Given the description of an element on the screen output the (x, y) to click on. 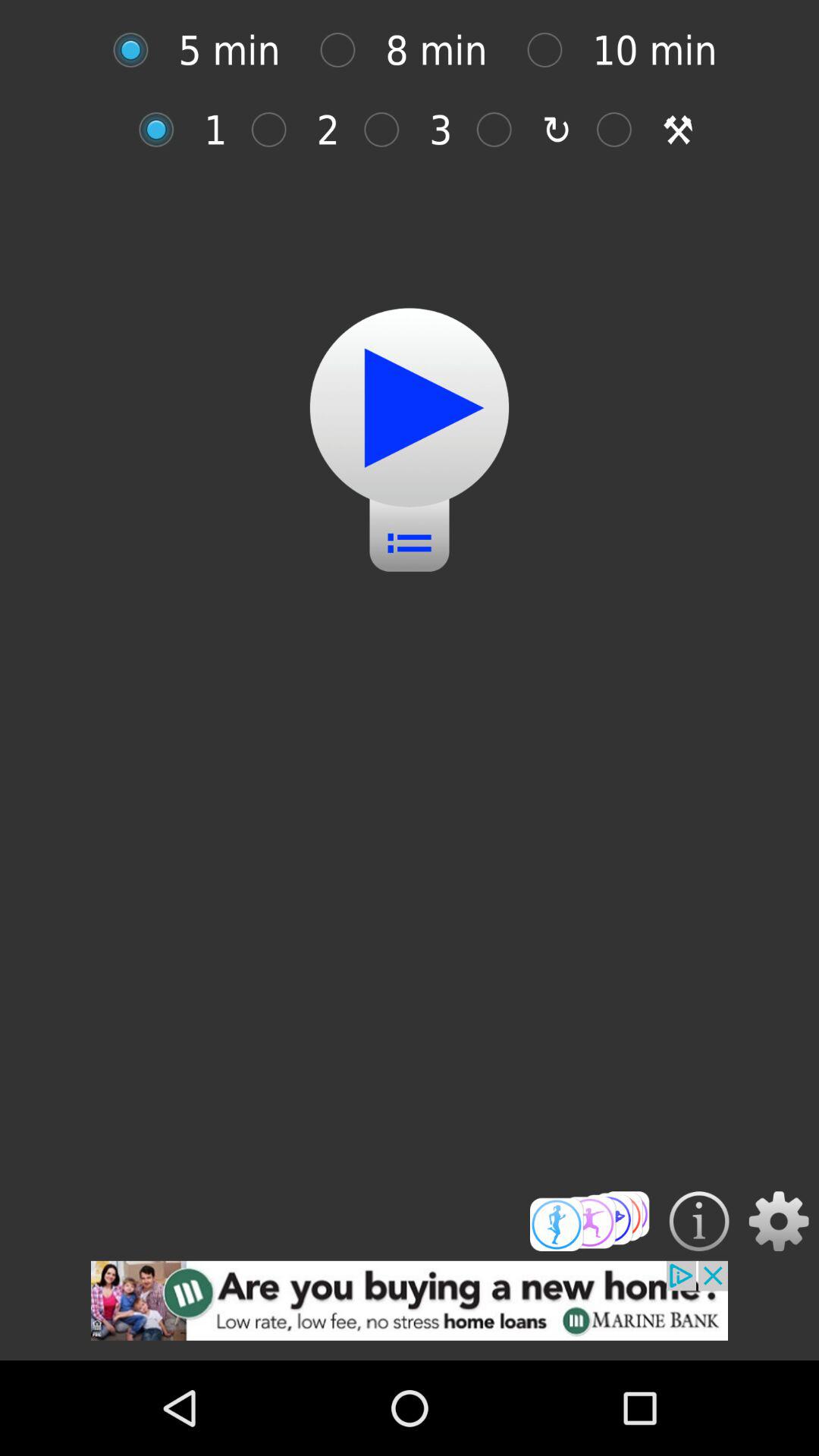
option selection option (164, 129)
